Given the description of an element on the screen output the (x, y) to click on. 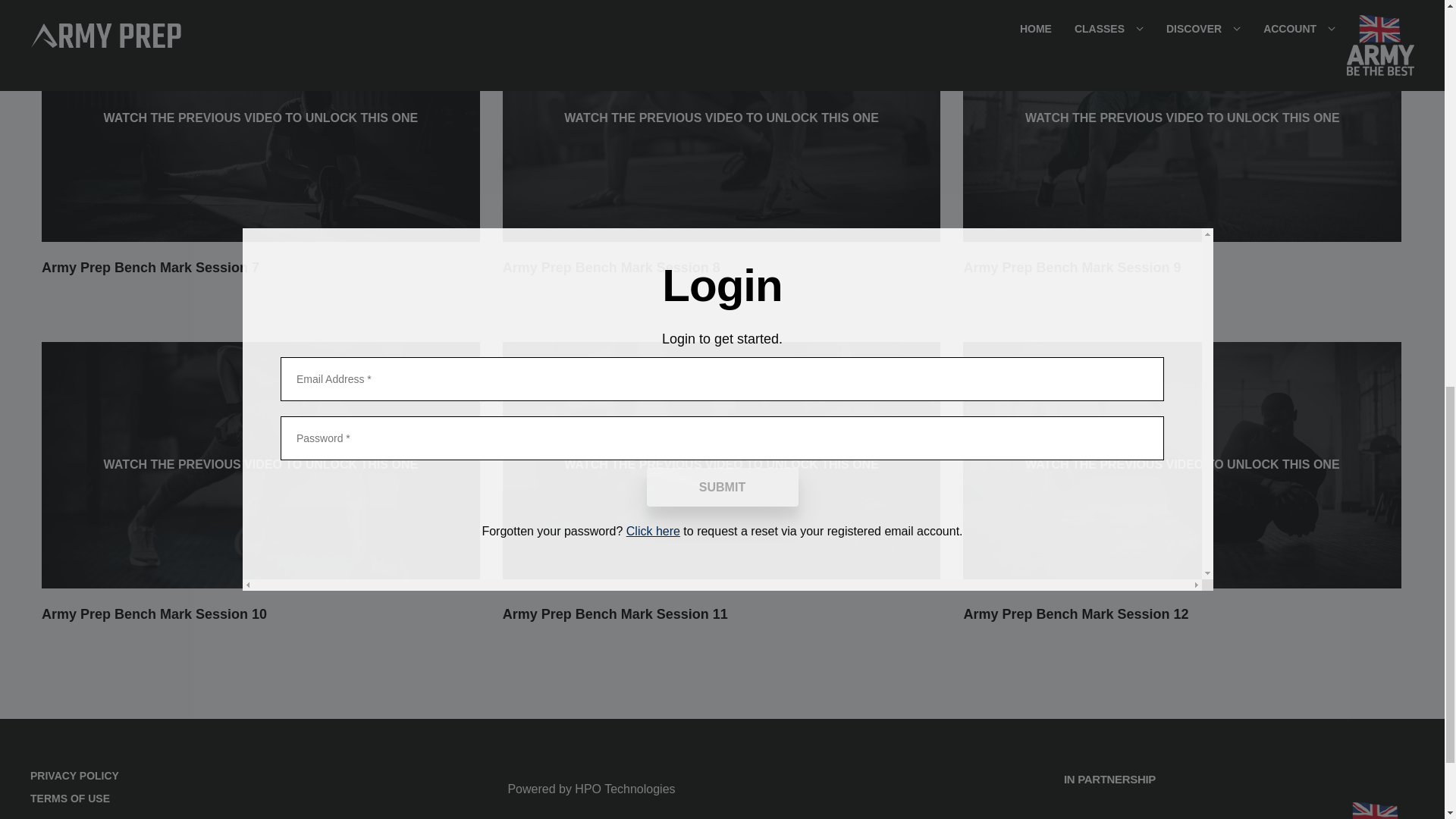
TERMS OF USE (74, 798)
PRIVACY POLICY (74, 775)
